Given the description of an element on the screen output the (x, y) to click on. 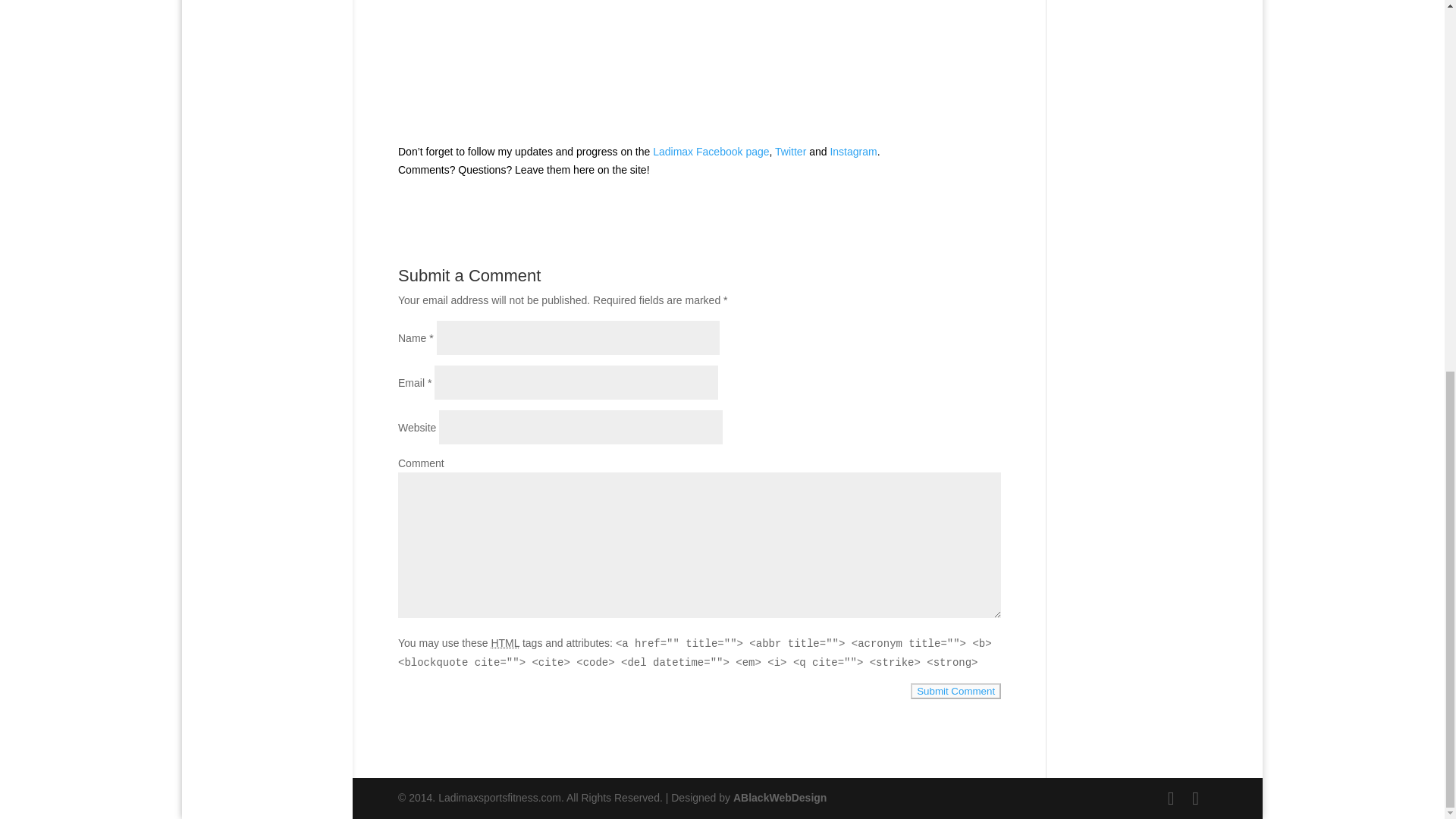
Ladimax Facebook page (710, 151)
Instagram (852, 151)
Submit Comment (956, 691)
ABlackWebDesign (780, 797)
Twitter (790, 151)
HyperText Markup Language (504, 643)
Submit Comment (956, 691)
